Given the description of an element on the screen output the (x, y) to click on. 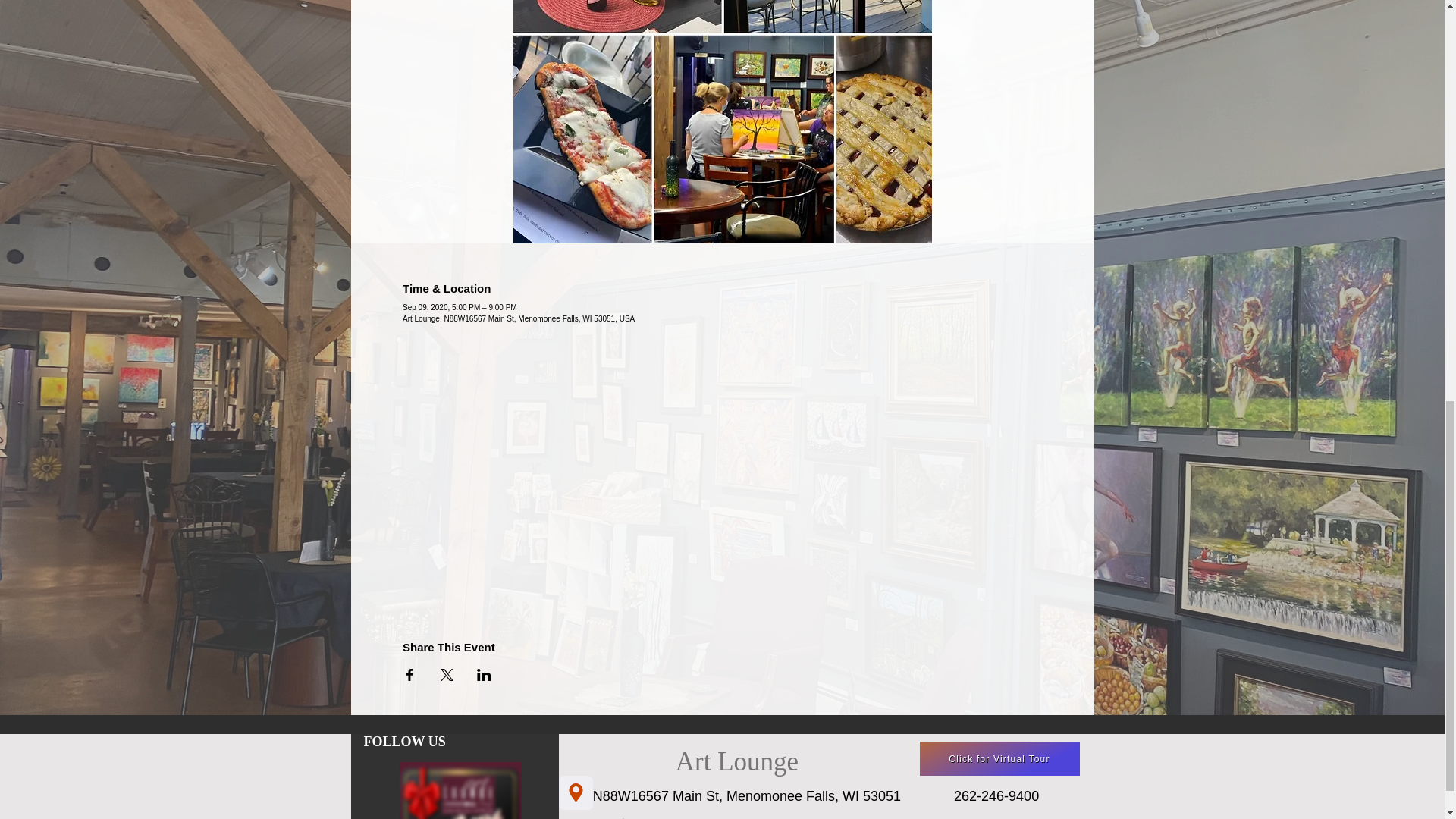
Click for Virtual Tour (998, 758)
Hand drawn envelope (459, 789)
